Given the description of an element on the screen output the (x, y) to click on. 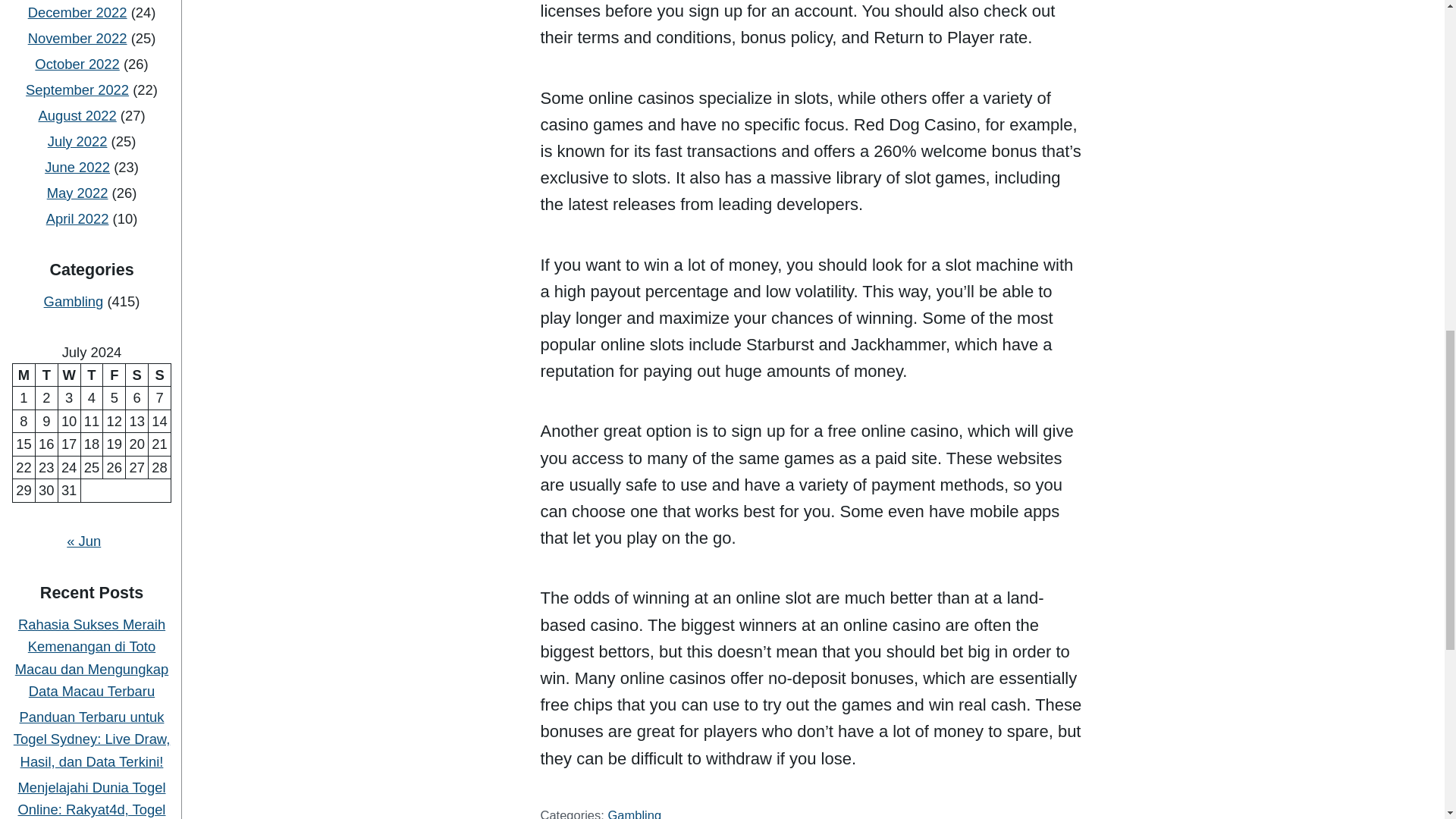
Friday (114, 123)
Monday (22, 123)
Gambling (634, 813)
Wednesday (69, 123)
Thursday (91, 123)
Gambling (73, 50)
Saturday (136, 123)
Sunday (159, 123)
Tuesday (46, 123)
